Given the description of an element on the screen output the (x, y) to click on. 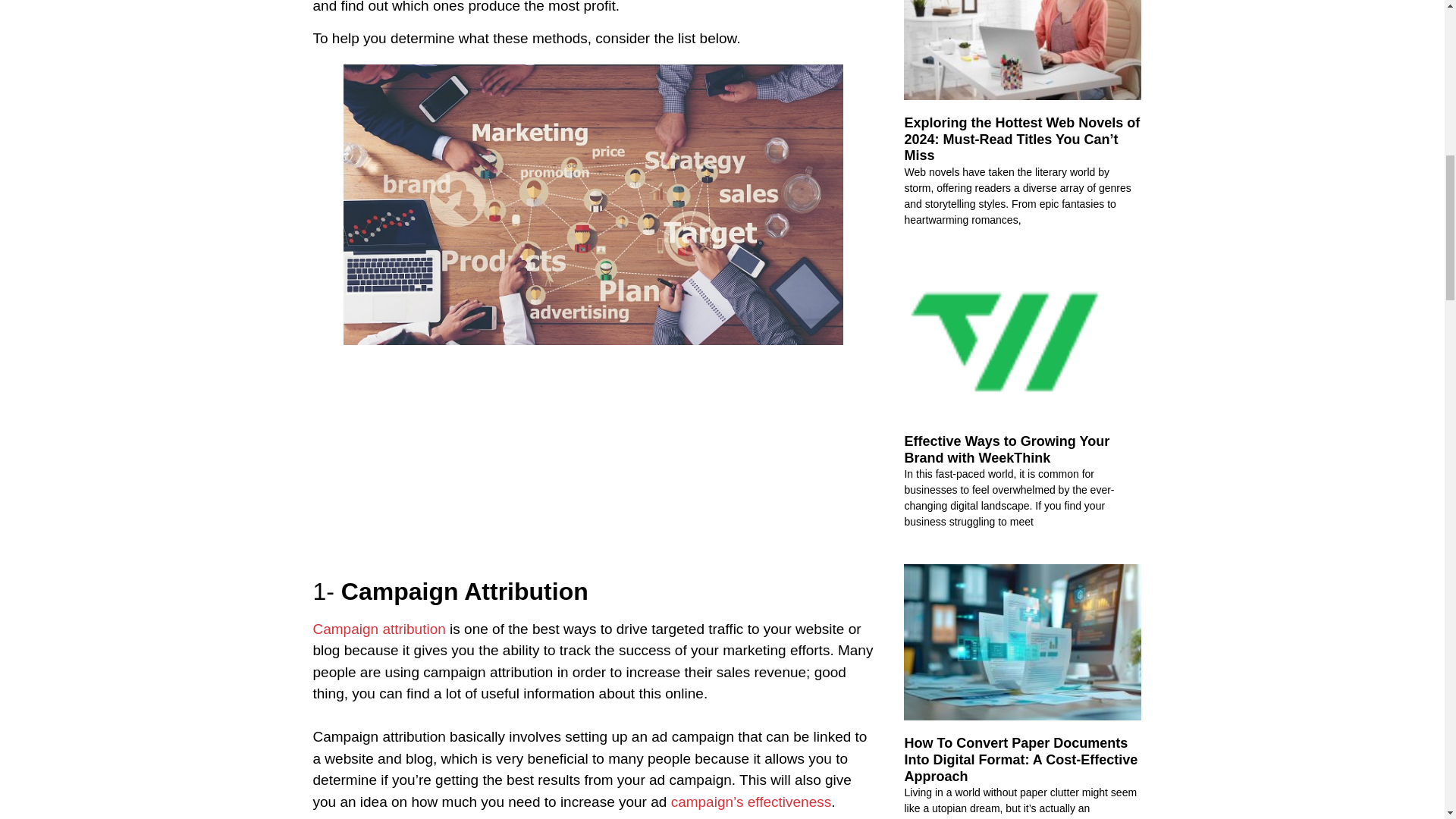
Campaign attribution (379, 628)
Effective Ways to Growing Your Brand with WeekThink (1006, 450)
